Given the description of an element on the screen output the (x, y) to click on. 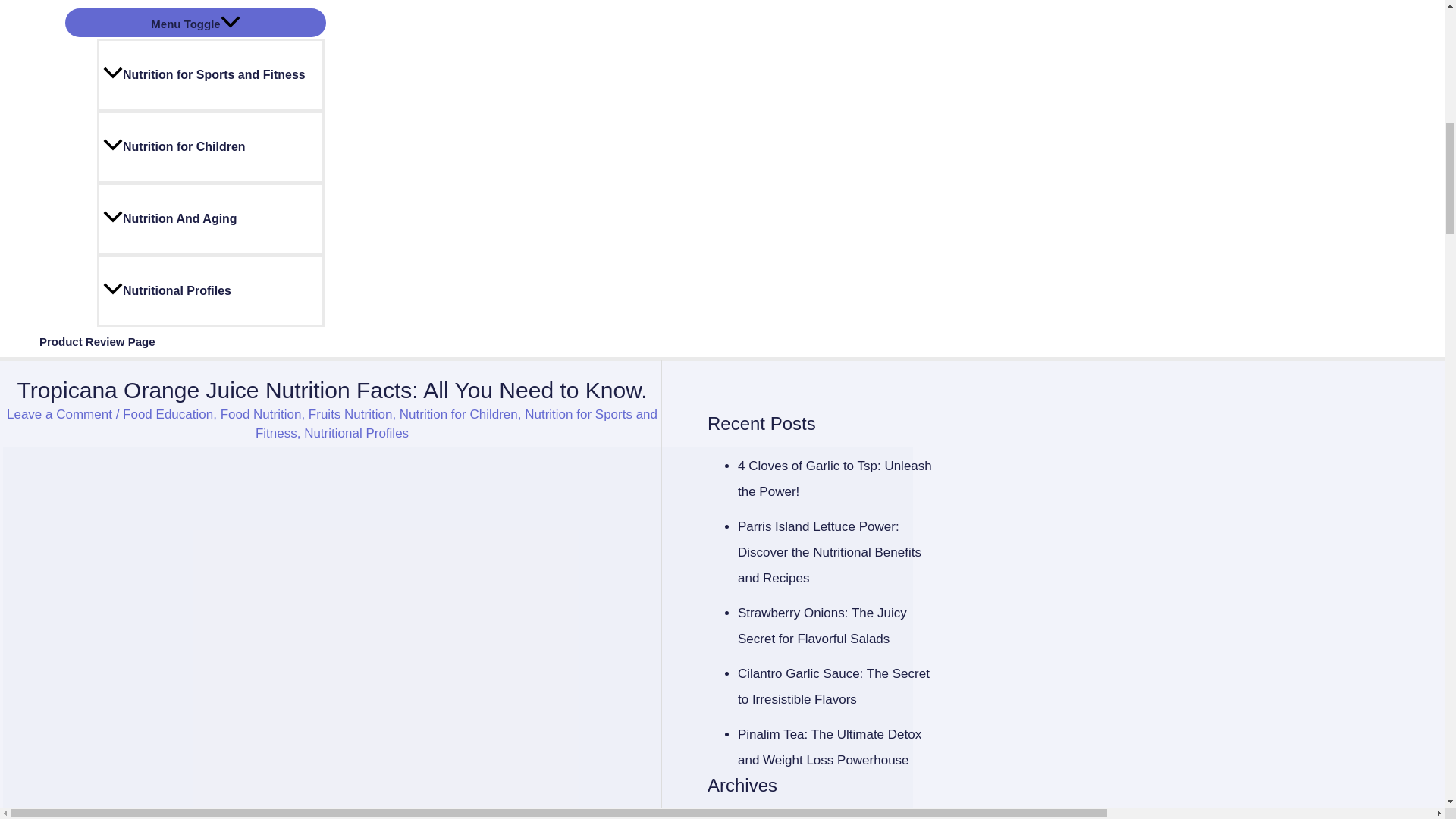
Nutrition for Sports and Fitness (210, 74)
Food Education (167, 414)
Nutritional Profiles (210, 290)
Nutrition And Aging (210, 218)
Product Review Page (97, 341)
Leave a Comment (59, 414)
Menu Toggle (195, 22)
Nutrition for Children (210, 146)
Weight Management (195, 4)
